Given the description of an element on the screen output the (x, y) to click on. 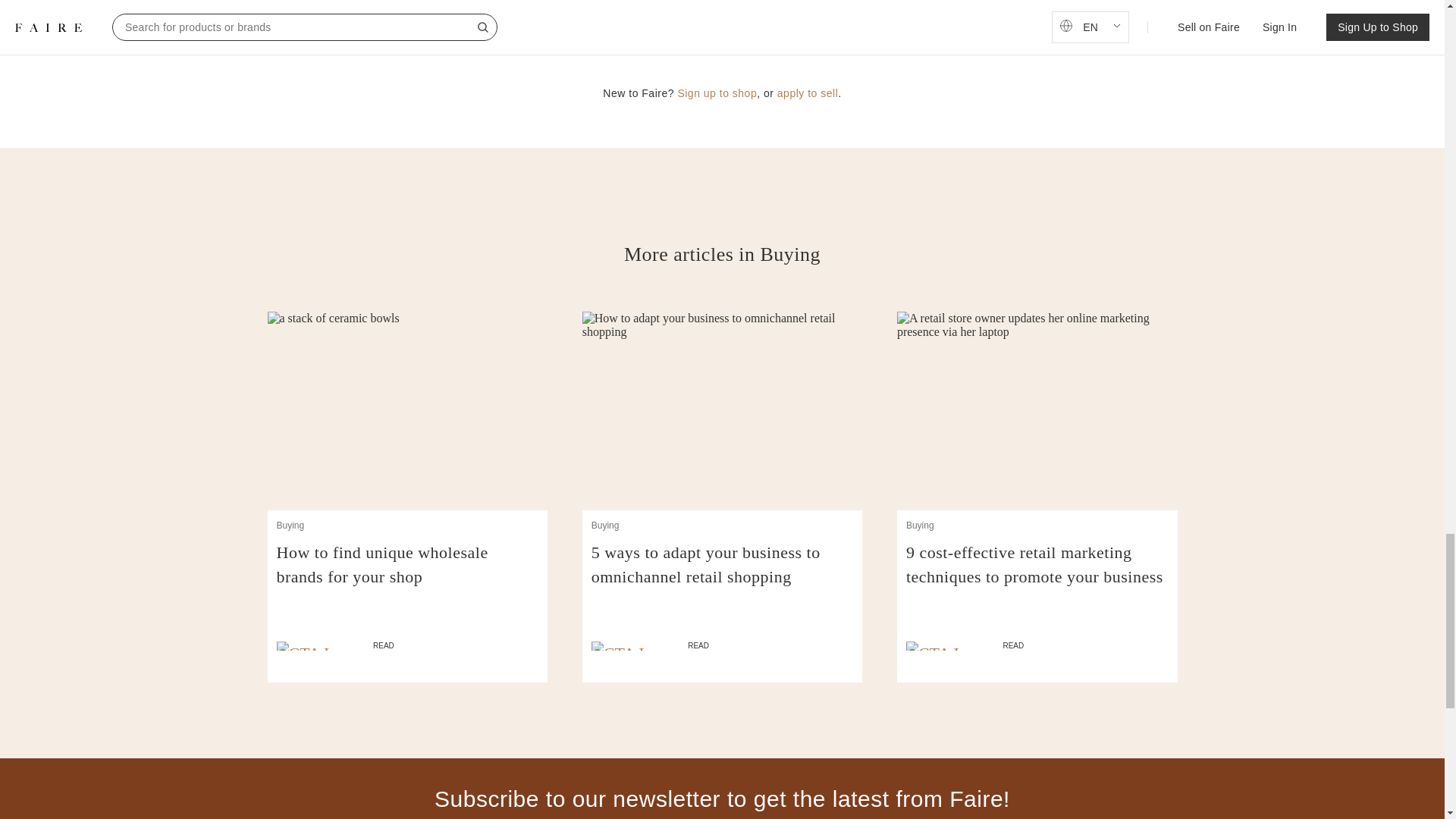
5 ways to adapt your business to omnichannel retail shopping (722, 576)
How to find unique wholesale brands for your shop (407, 576)
READ (722, 646)
Sign up to shop (717, 92)
apply to sell (807, 92)
WomenCraft (586, 0)
How to find unique wholesale brands for your shop (407, 576)
Buying (605, 525)
READ (407, 646)
5 ways to adapt your business to omnichannel retail shopping (722, 576)
Buying (290, 525)
